Given the description of an element on the screen output the (x, y) to click on. 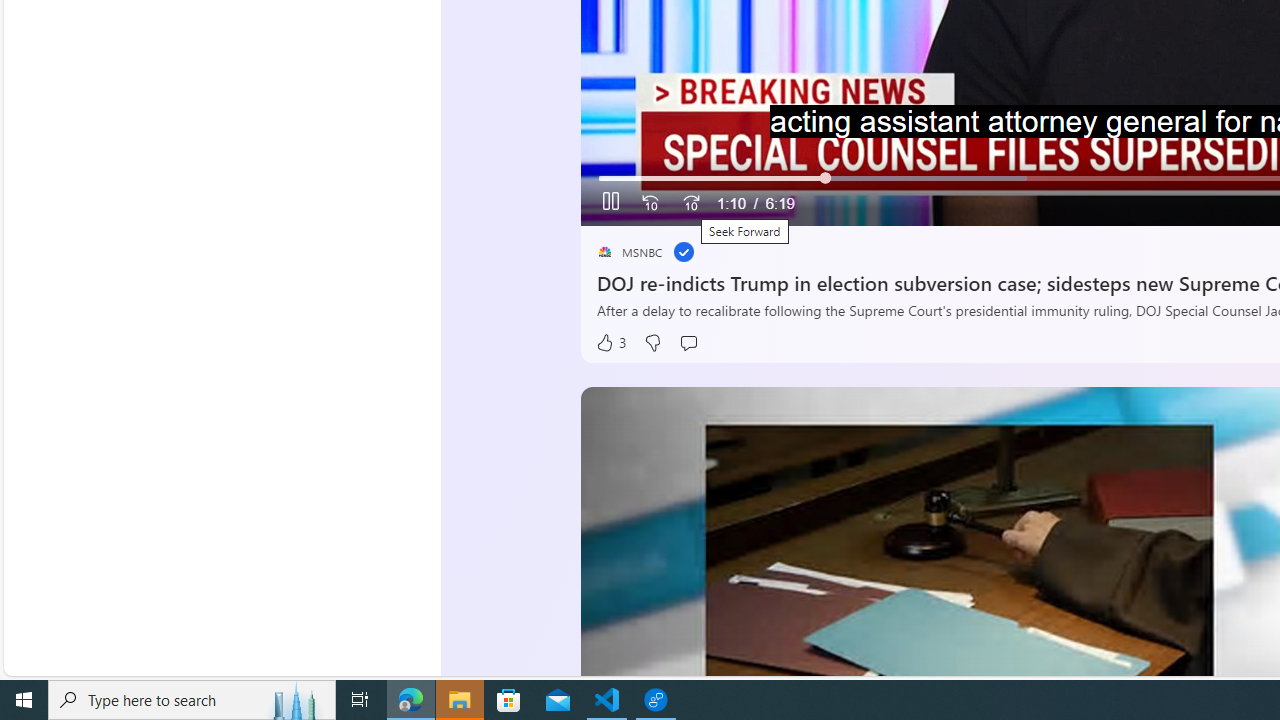
Seek Back (650, 203)
Dislike (651, 343)
3 Like (610, 343)
Start the conversation (687, 343)
Pause (611, 203)
placeholder MSNBC (629, 252)
placeholder (604, 252)
Seek Forward (690, 203)
